Given the description of an element on the screen output the (x, y) to click on. 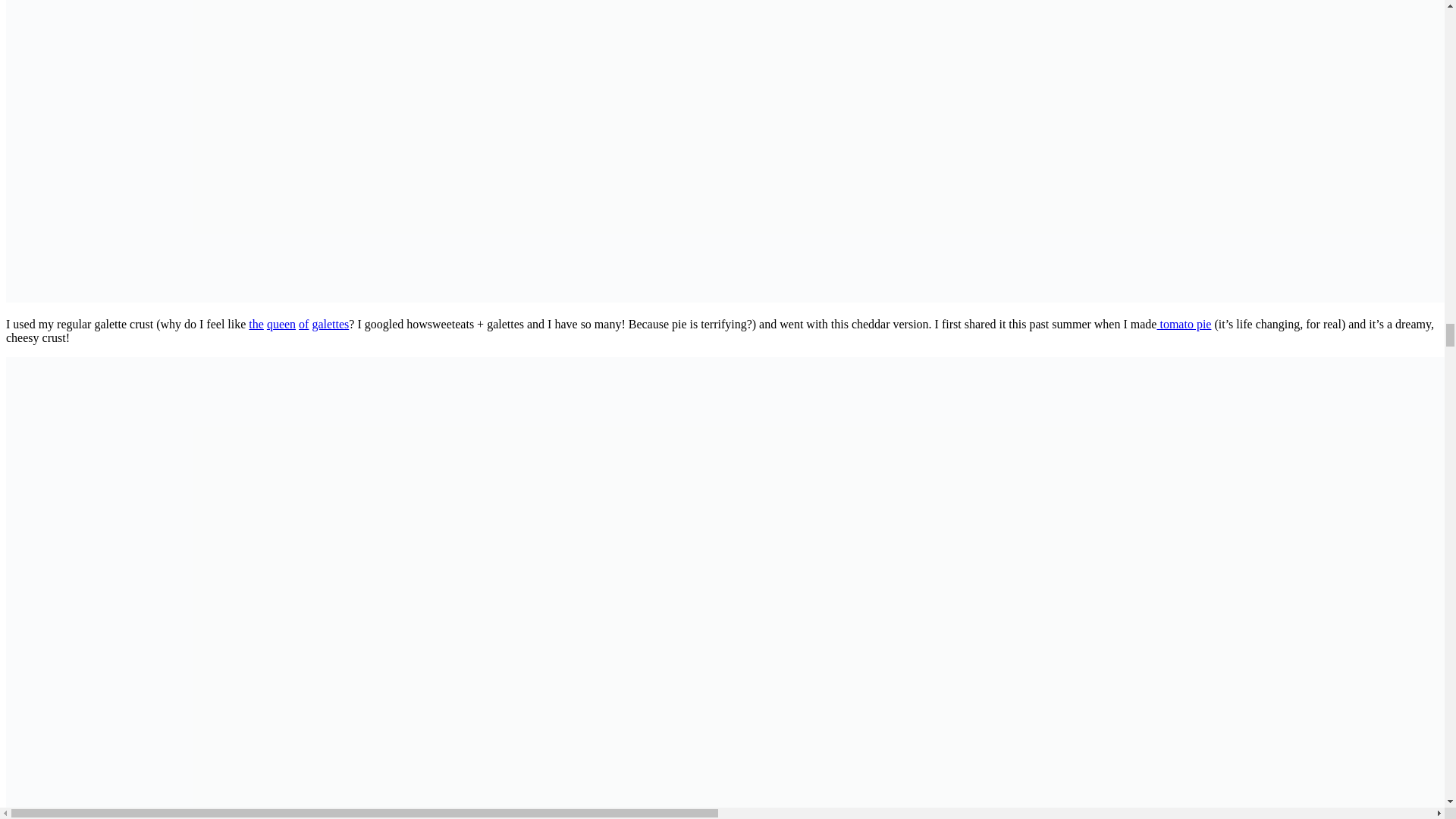
queen (280, 323)
tomato pie (1183, 323)
the (255, 323)
galettes (330, 323)
